Given the description of an element on the screen output the (x, y) to click on. 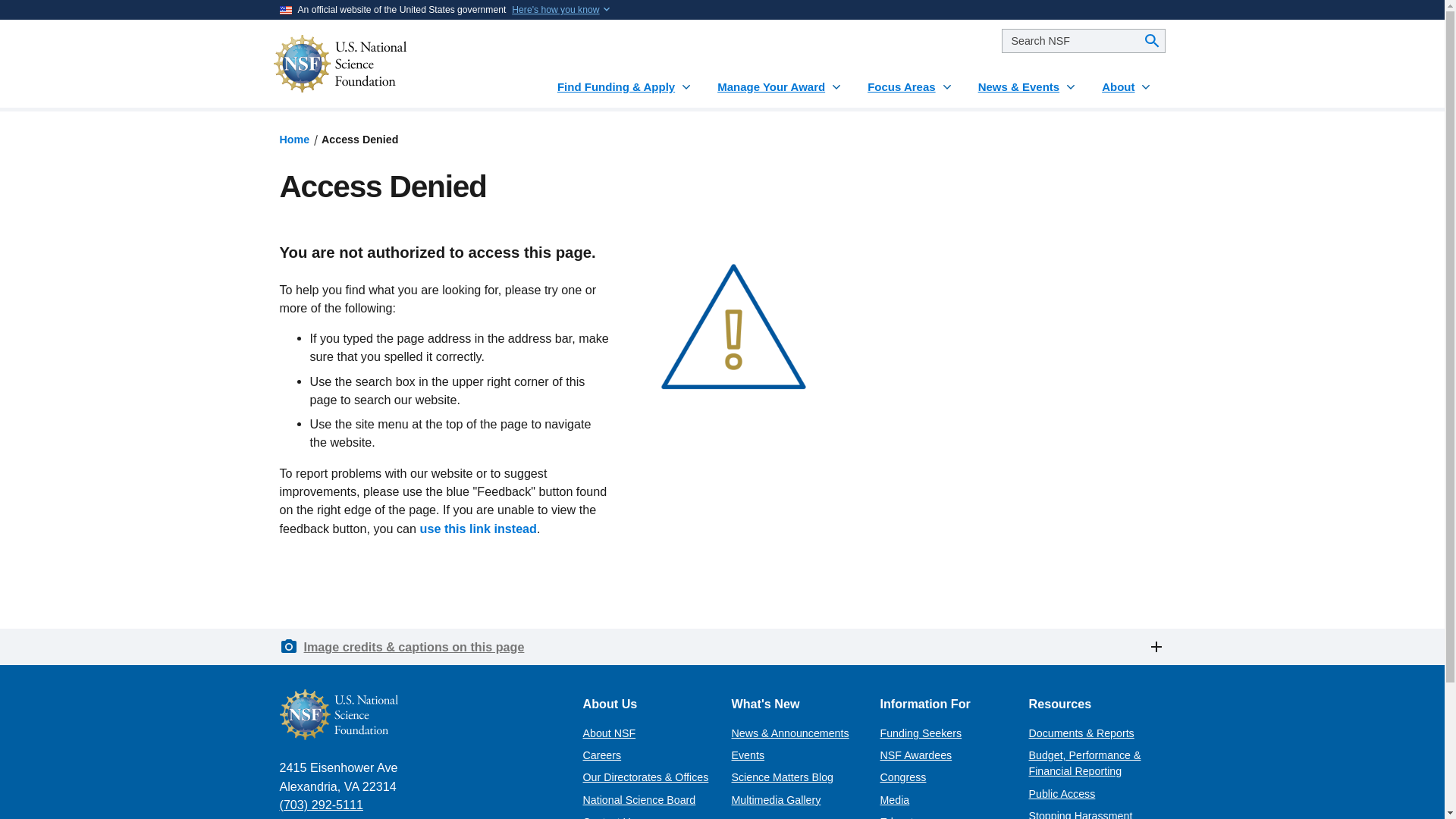
Funding Seekers (919, 733)
National Science Board (638, 799)
NSF - National Science Foundation - Home (385, 63)
use this link instead (478, 528)
Events (747, 755)
Congress (902, 776)
Media (893, 799)
search (1082, 40)
Contact Us (608, 817)
Careers (601, 755)
